Given the description of an element on the screen output the (x, y) to click on. 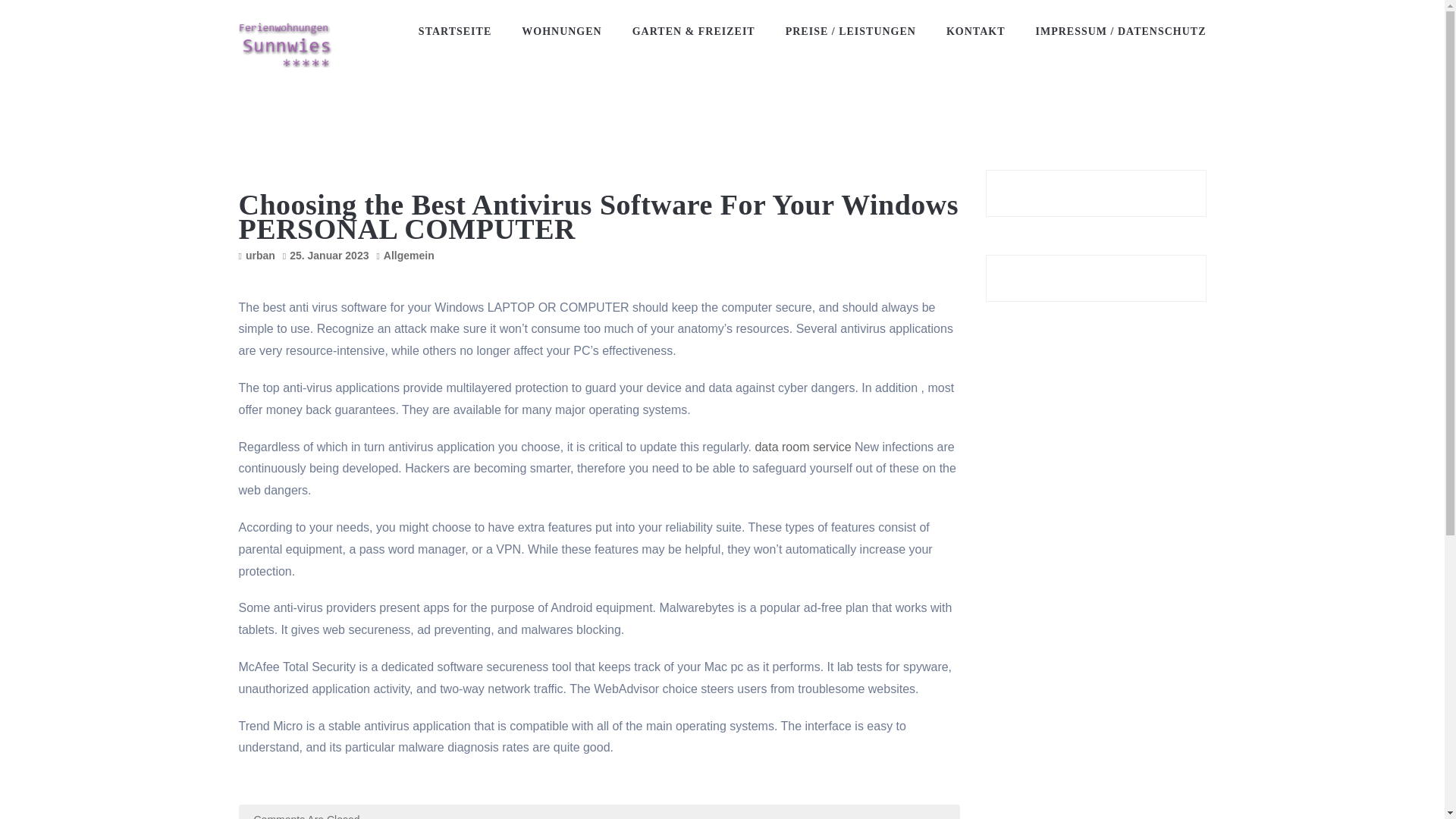
Allgemein (408, 255)
urban (260, 255)
25. Januar 2023 (328, 255)
STARTSEITE (454, 32)
KONTAKT (975, 32)
data room service (802, 446)
WOHNUNGEN (560, 32)
